Given the description of an element on the screen output the (x, y) to click on. 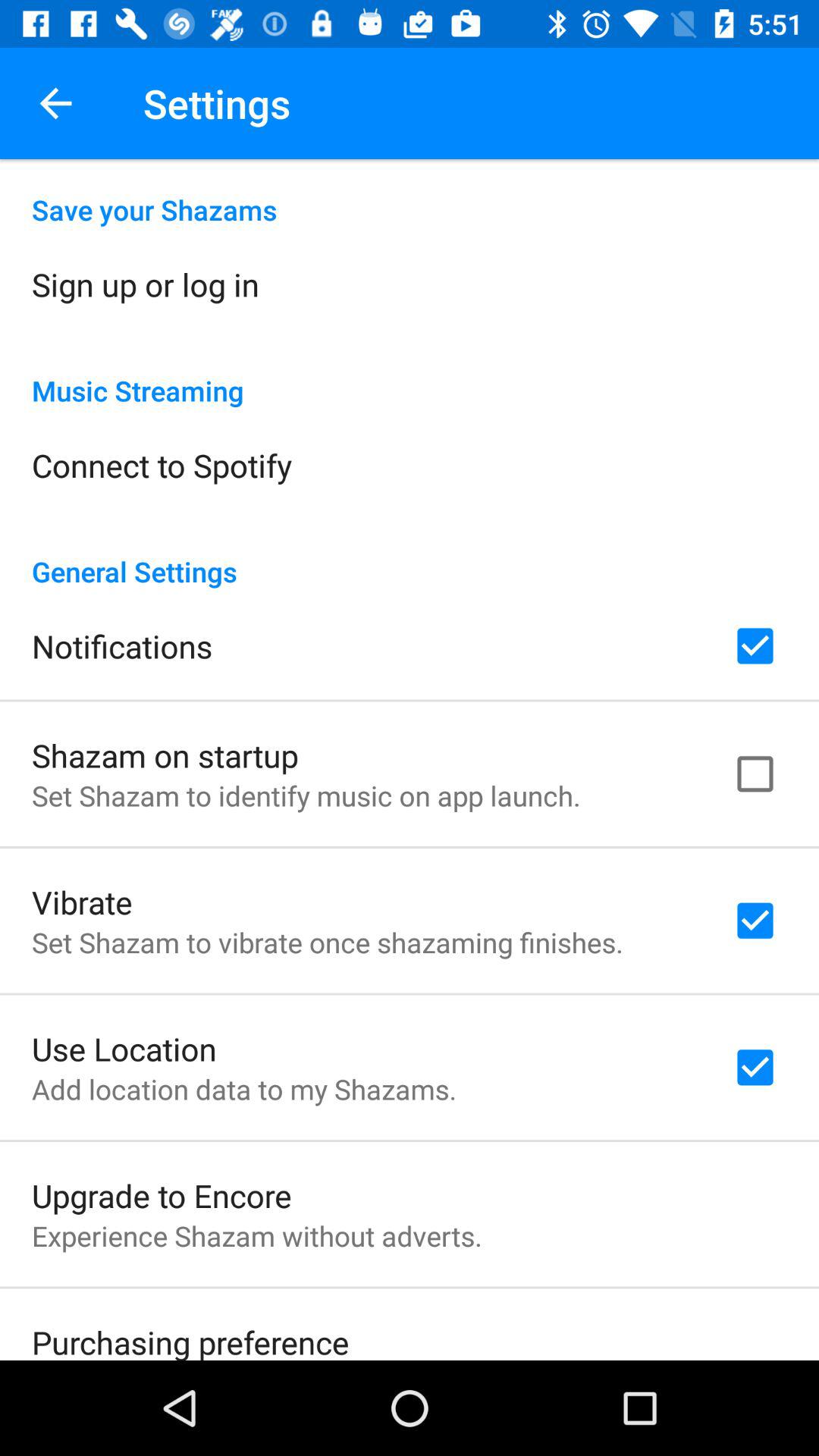
tap item above add location data (123, 1048)
